Given the description of an element on the screen output the (x, y) to click on. 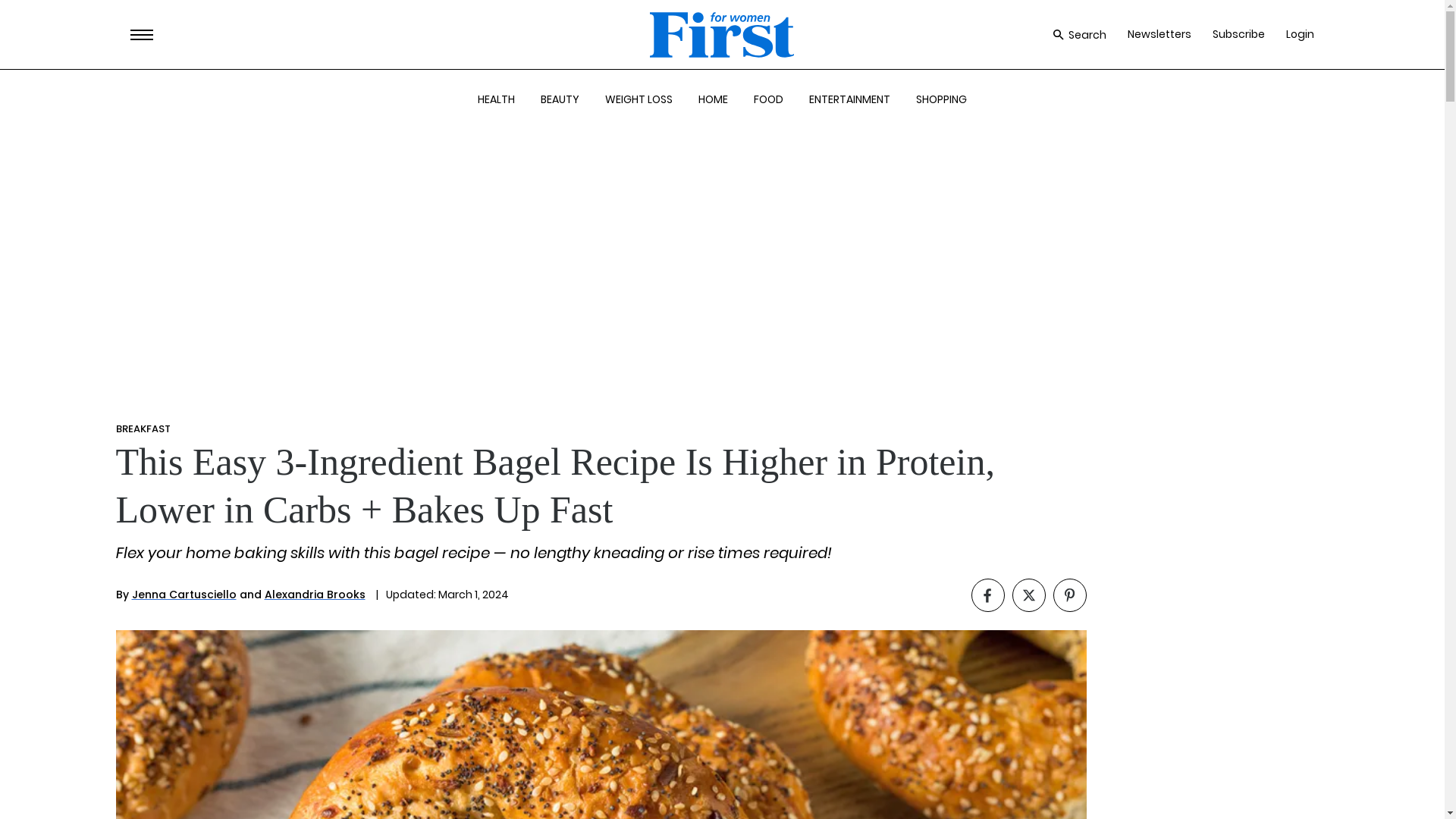
Click to share on Facebook (987, 594)
Click to share on Twitter (1028, 594)
Click to share on Pinterest (1069, 594)
